Given the description of an element on the screen output the (x, y) to click on. 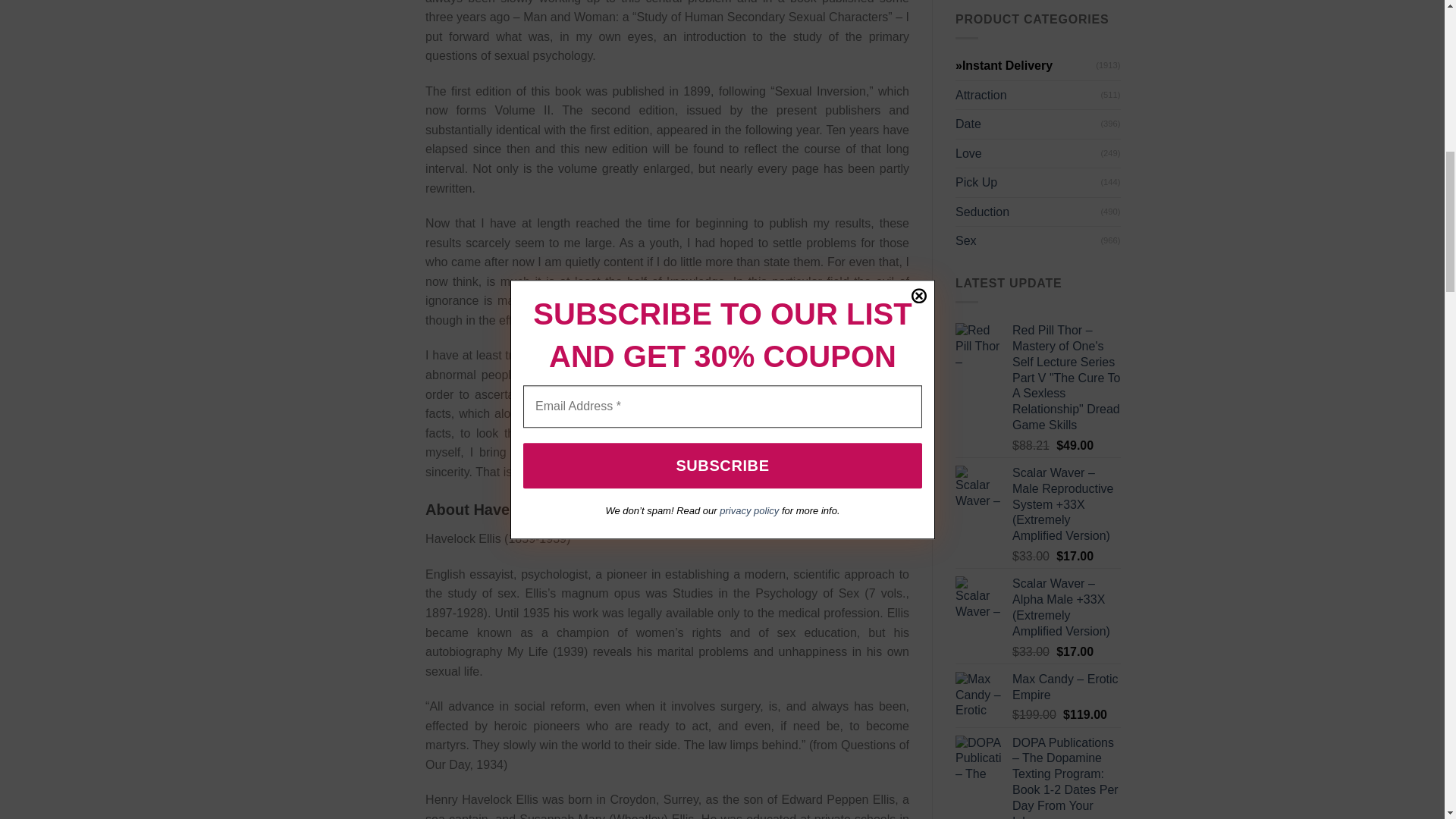
Sex (1027, 240)
Seduction (1027, 212)
Attraction (1027, 95)
Date (1027, 123)
Love (1027, 153)
Pick Up (1027, 182)
